Given the description of an element on the screen output the (x, y) to click on. 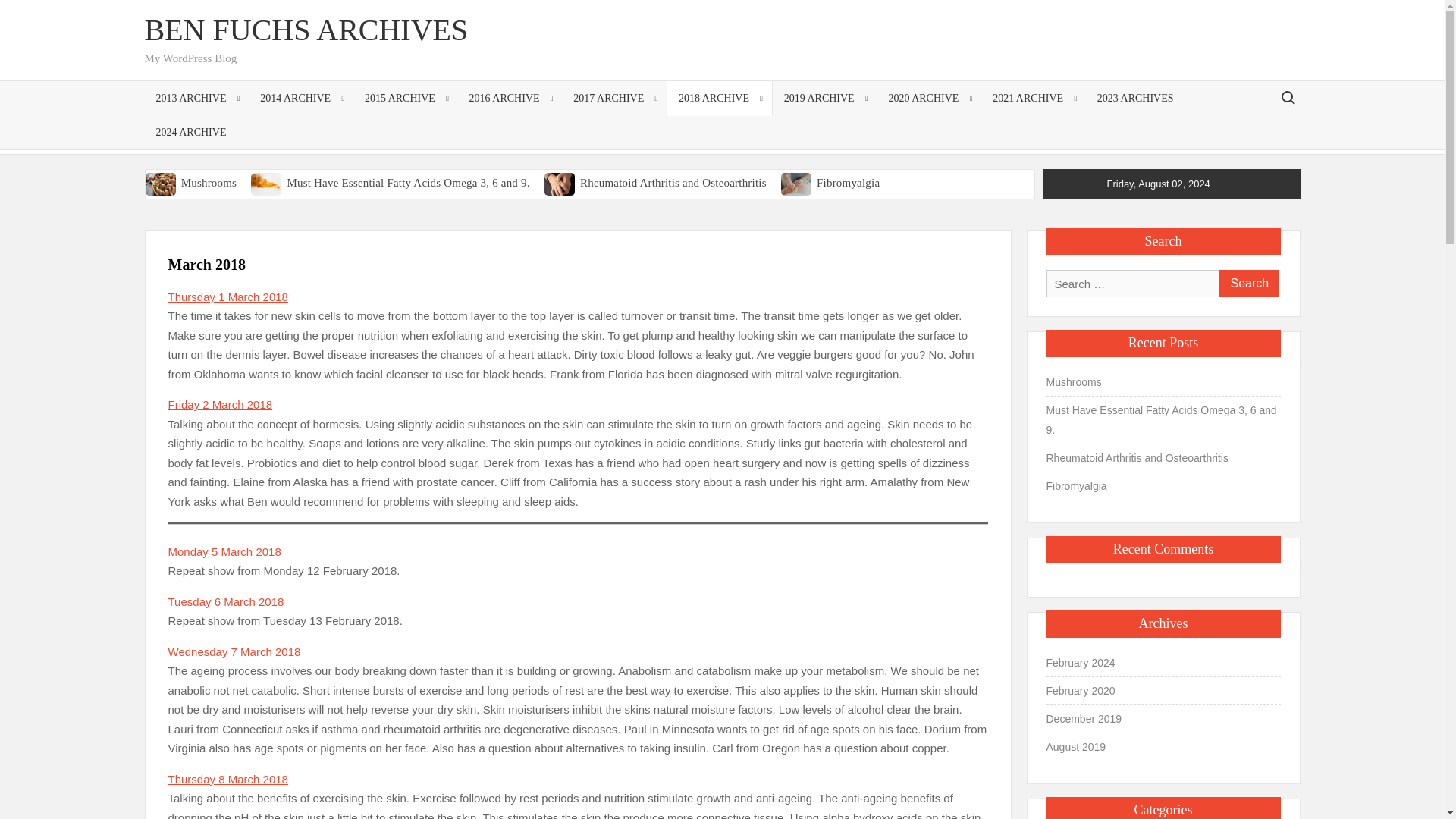
Search (1247, 283)
Must Have Essential Fatty Acids Omega 3, 6 and 9. (407, 182)
Mushrooms (161, 182)
Rheumatoid Arthritis and Osteoarthritis (673, 182)
Fibromyalgia (847, 182)
Fibromyalgia (796, 182)
Rheumatoid Arthritis and Osteoarthritis (560, 182)
Must Have Essential Fatty Acids Omega 3, 6 and 9. (266, 182)
Search (1247, 283)
Mushrooms (207, 182)
